Given the description of an element on the screen output the (x, y) to click on. 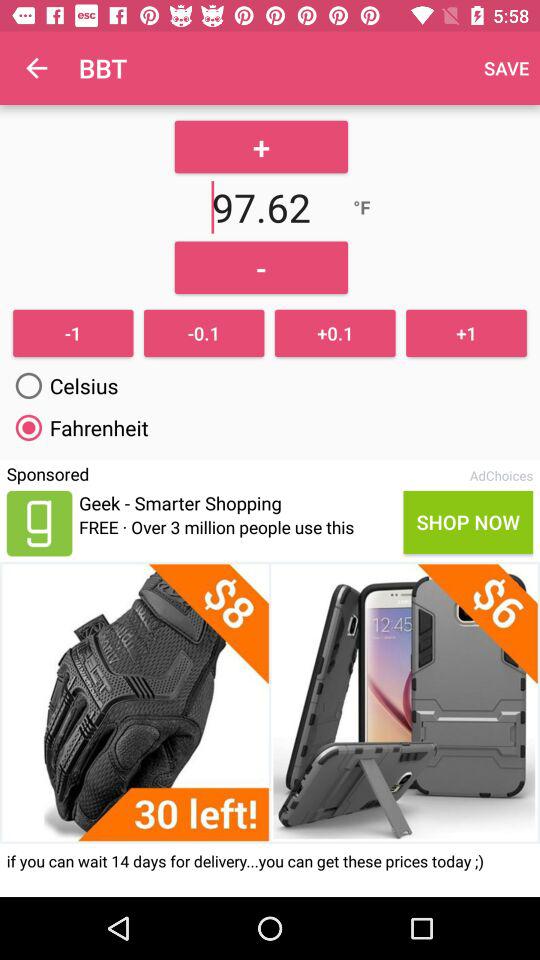
picture advertising products (270, 702)
